Given the description of an element on the screen output the (x, y) to click on. 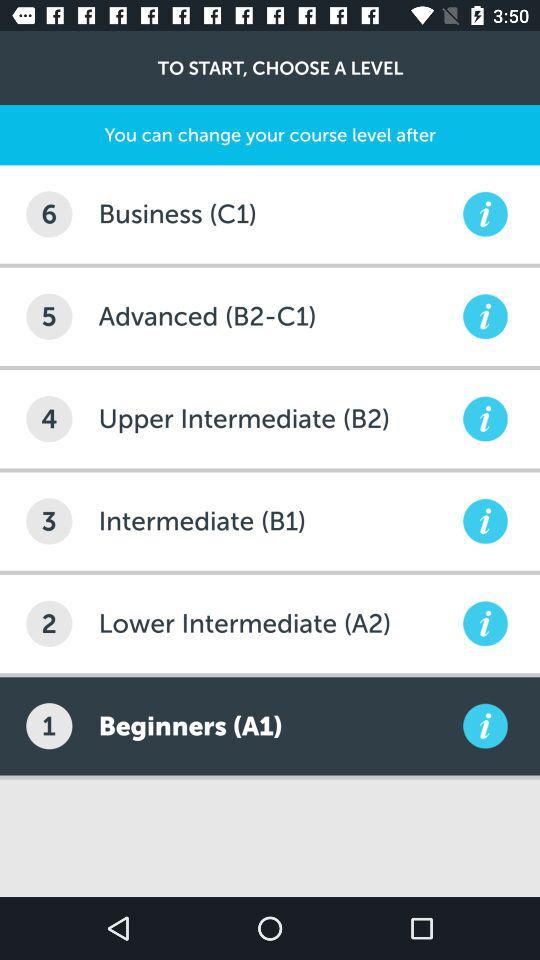
go to instruction (485, 726)
